Given the description of an element on the screen output the (x, y) to click on. 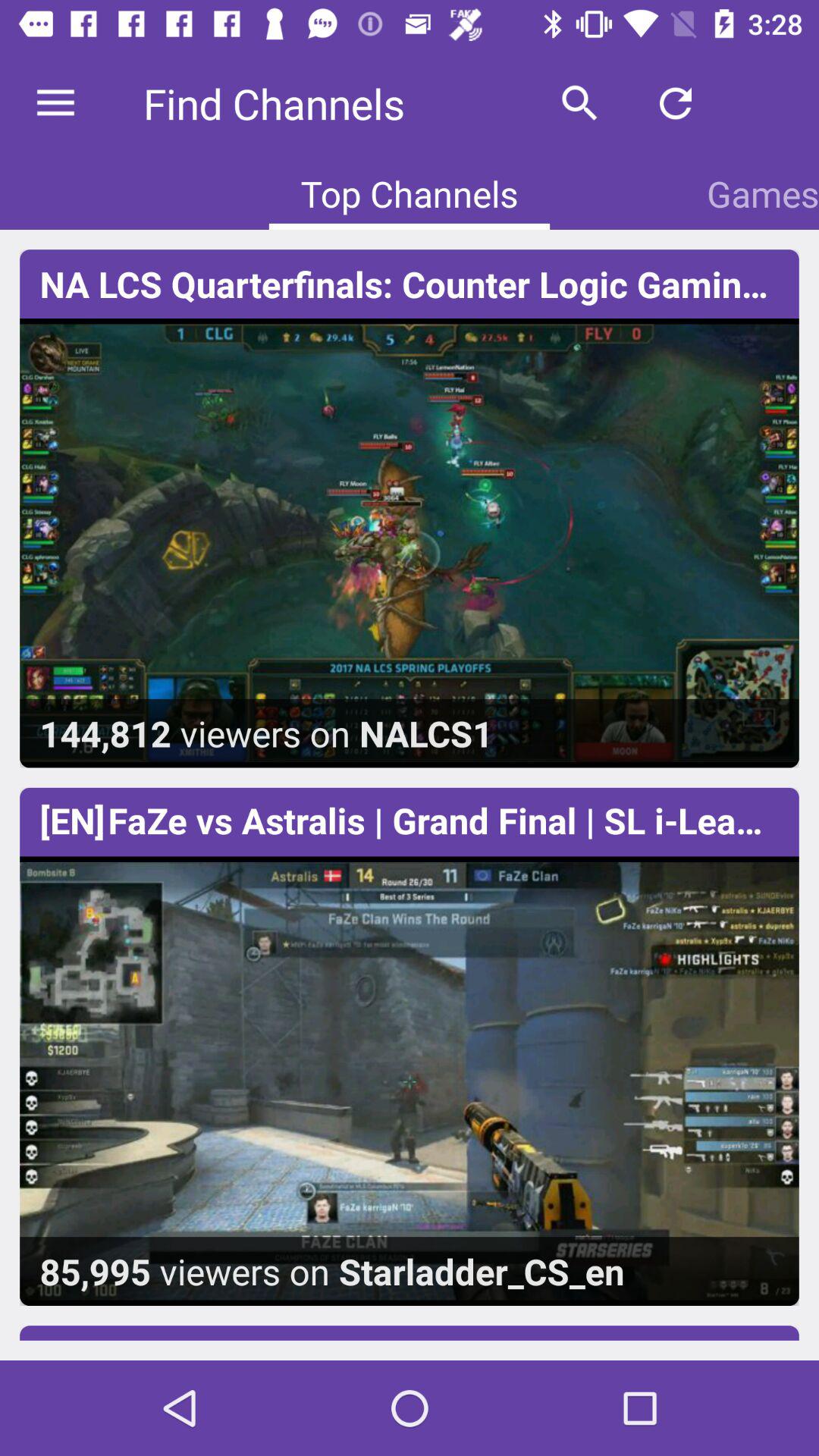
select the item at the top left corner (55, 103)
